Given the description of an element on the screen output the (x, y) to click on. 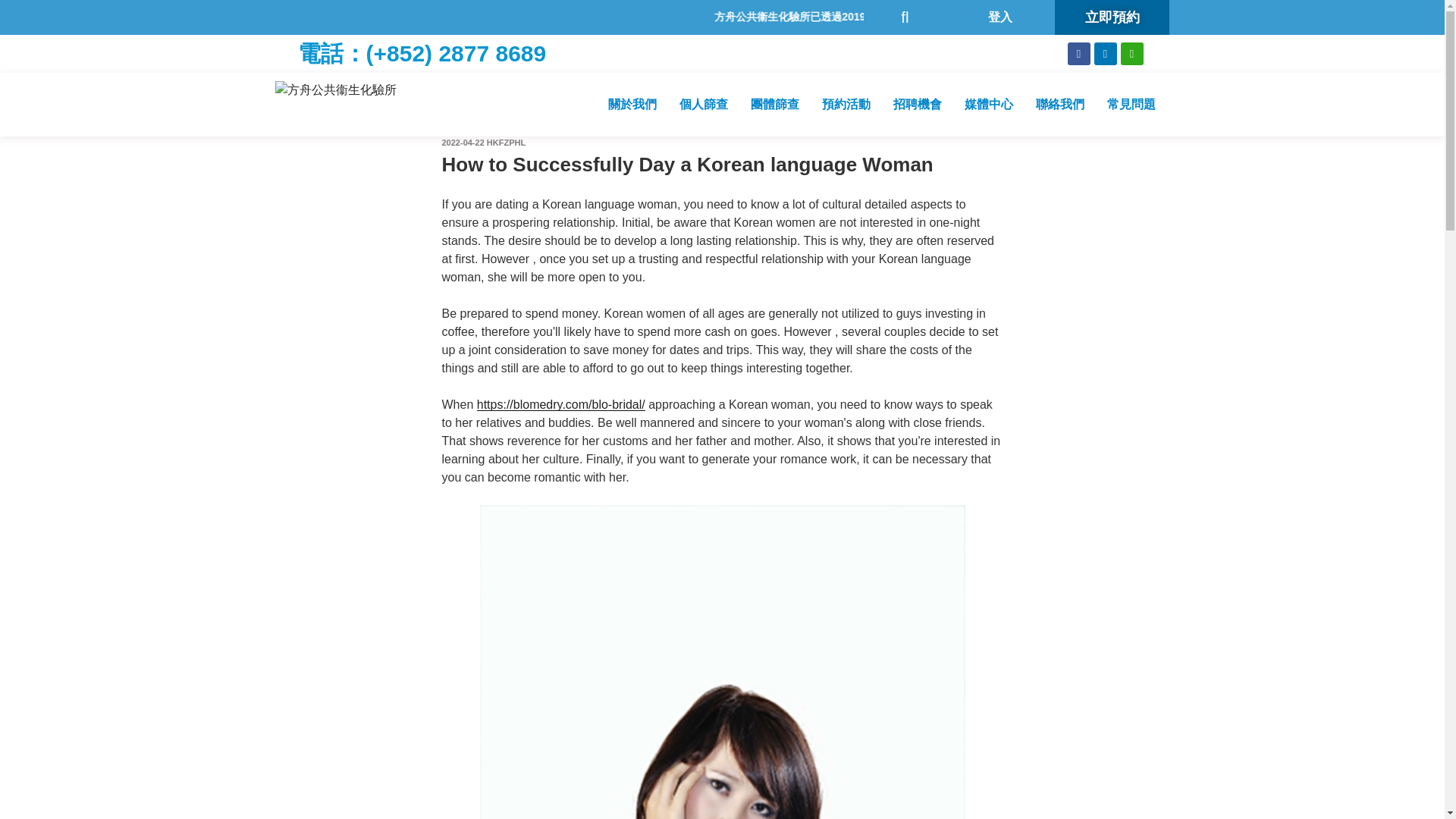
HKFZPHL (505, 142)
2022-04-22 (462, 142)
